Given the description of an element on the screen output the (x, y) to click on. 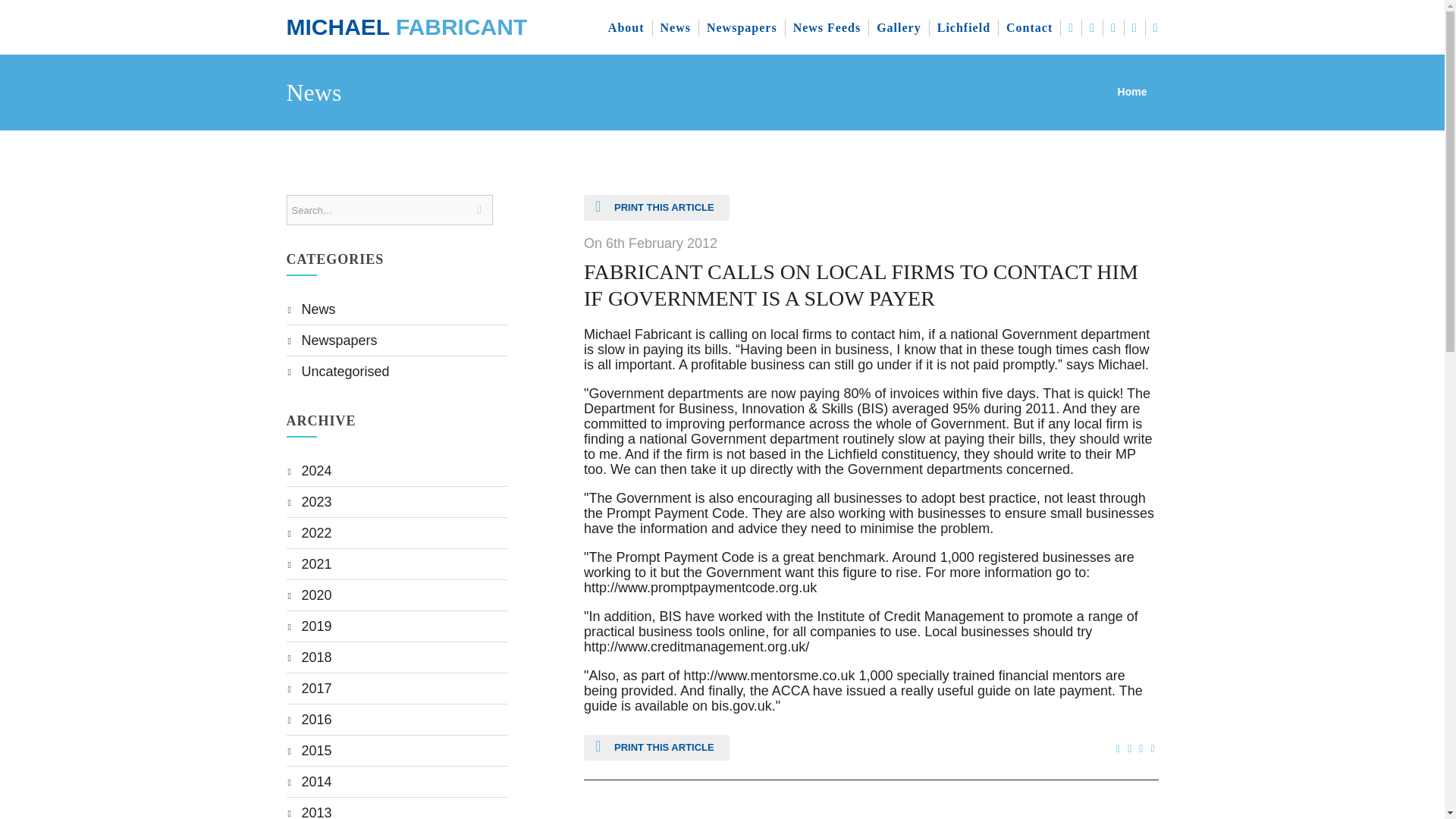
Newspapers (339, 340)
Uncategorised (345, 371)
Print this article (656, 207)
MICHAEL FABRICANT (406, 27)
News (675, 27)
About (625, 27)
Home (1132, 91)
Lichfield (964, 27)
News Feeds (827, 27)
Print this article (656, 747)
